Given the description of an element on the screen output the (x, y) to click on. 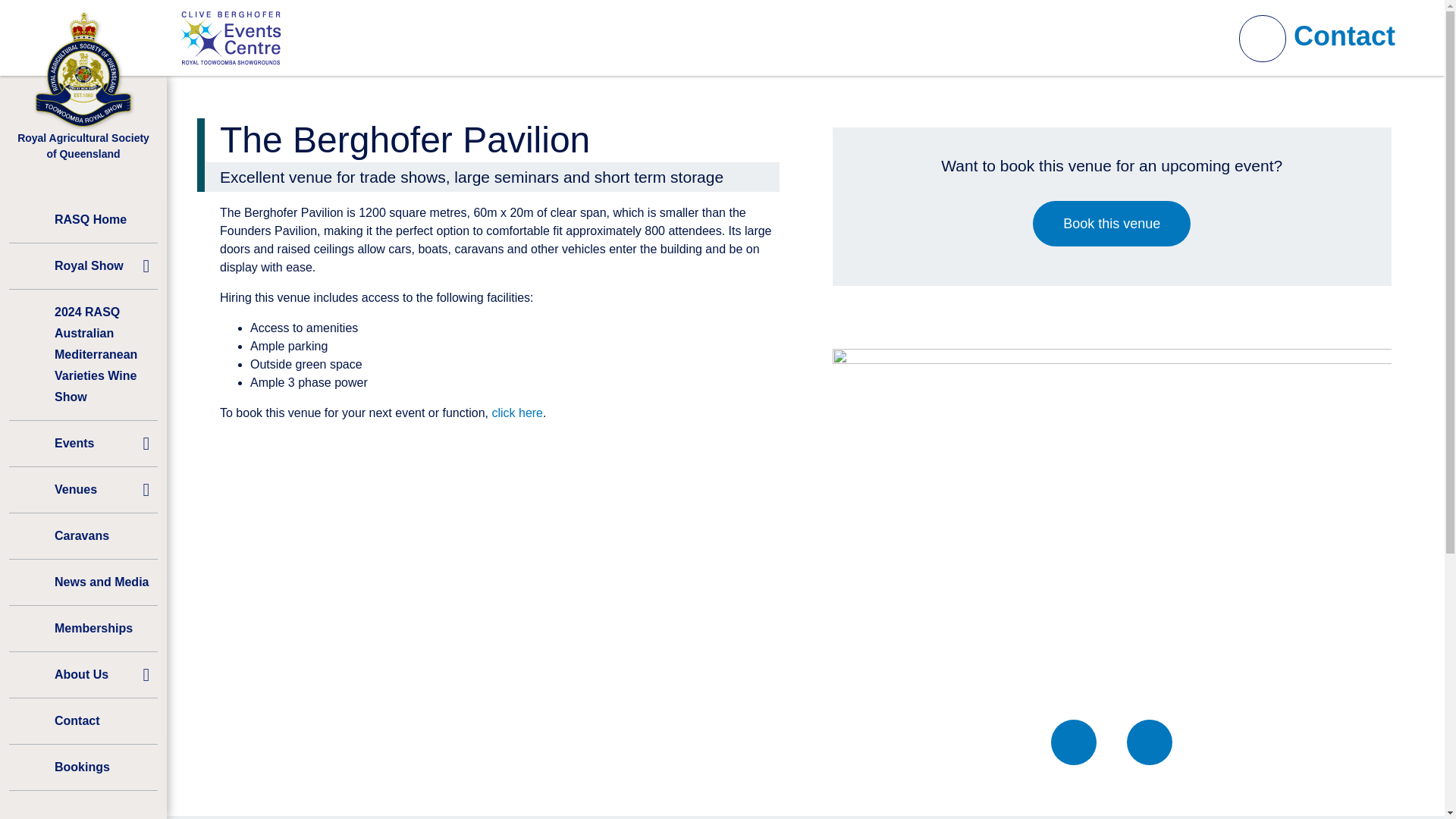
Contact (1344, 35)
Venues (82, 489)
About Us (82, 674)
Events (82, 443)
RASQ Home (82, 219)
News and Media (82, 582)
Caravans (82, 535)
2024 RASQ Australian Mediterranean Varieties Wine Show (82, 354)
Contact (82, 720)
Bookings (82, 767)
Opens internal link in current window (517, 412)
Royal Show (82, 266)
Memberships (82, 628)
Opens internal link in current window (1111, 223)
